Given the description of an element on the screen output the (x, y) to click on. 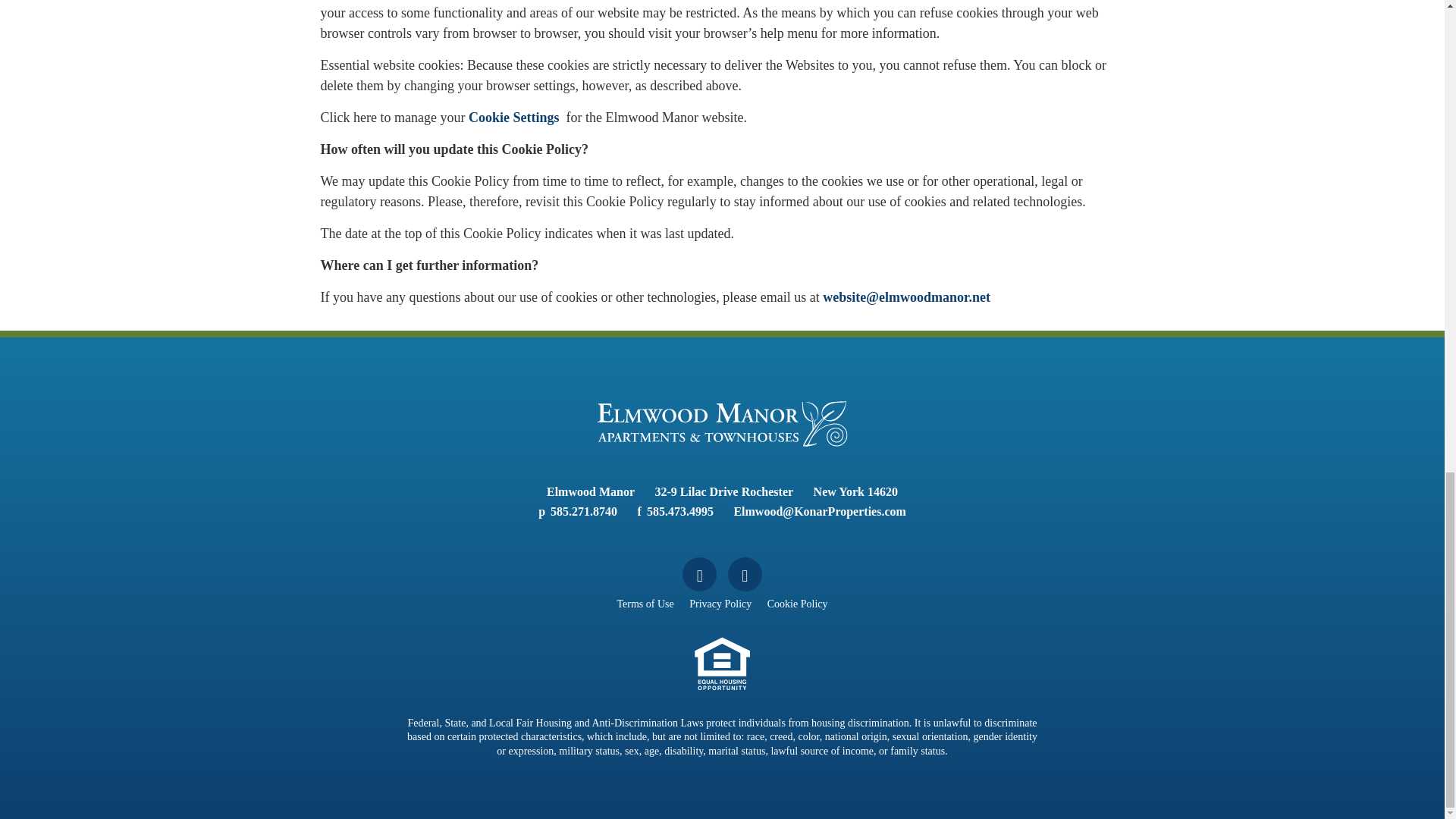
Cookie Settings  (517, 117)
Terms of Use (644, 604)
Cookie Policy (797, 604)
Privacy Policy (719, 604)
